Given the description of an element on the screen output the (x, y) to click on. 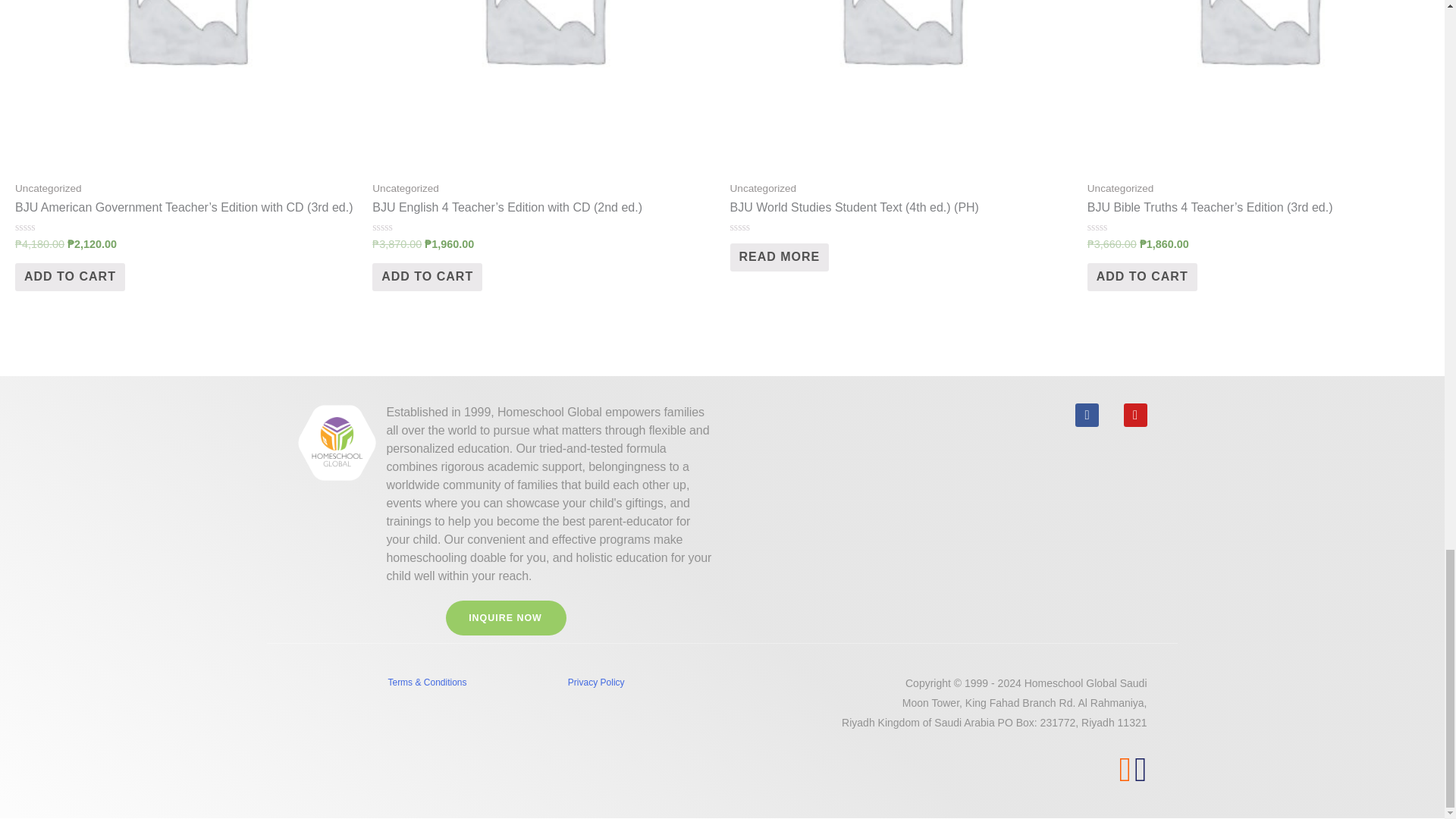
ADD TO CART (69, 276)
ADD TO CART (426, 276)
READ MORE (778, 257)
